Given the description of an element on the screen output the (x, y) to click on. 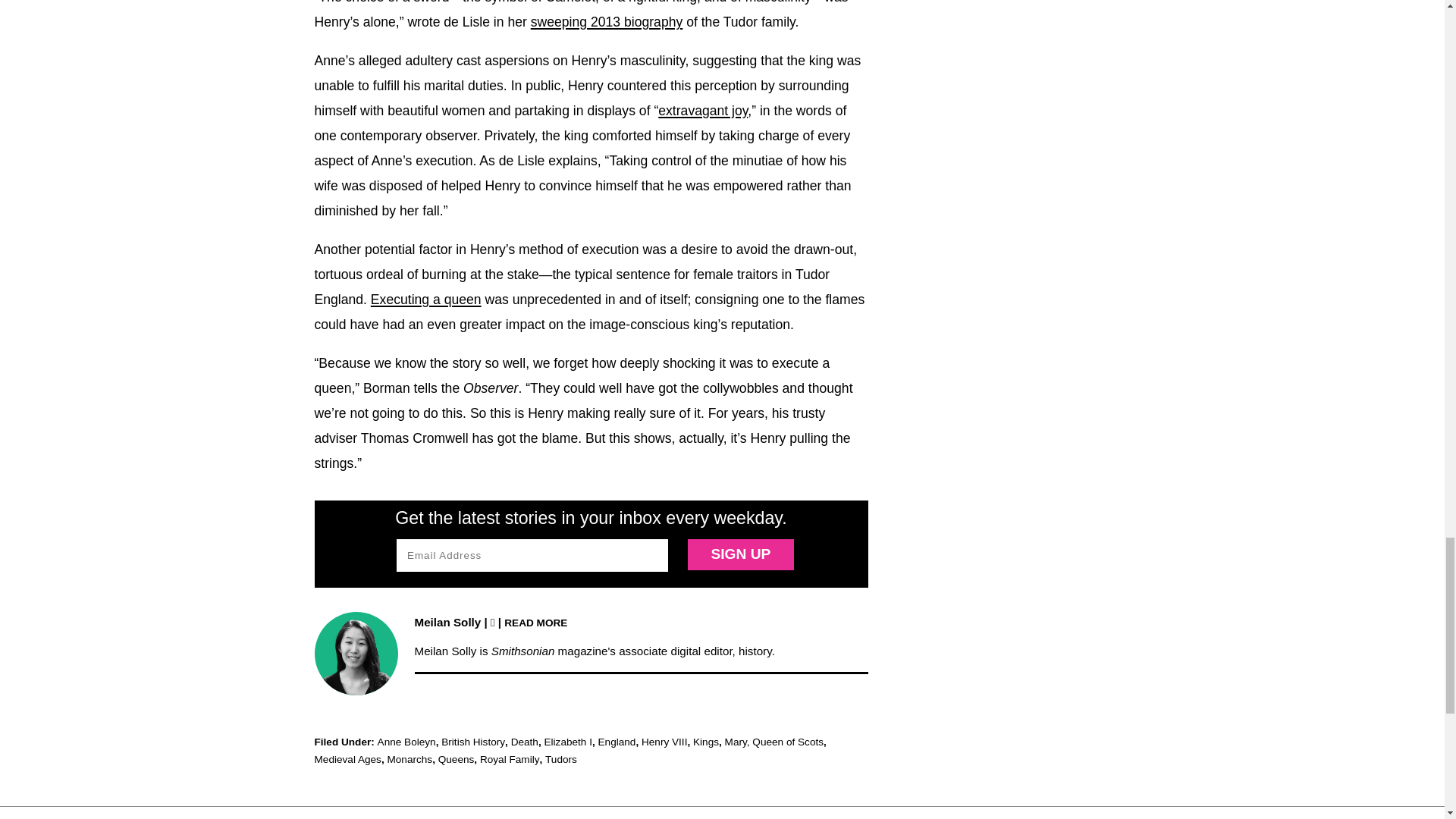
Sign Up (740, 554)
Read more from this author (535, 621)
